Given the description of an element on the screen output the (x, y) to click on. 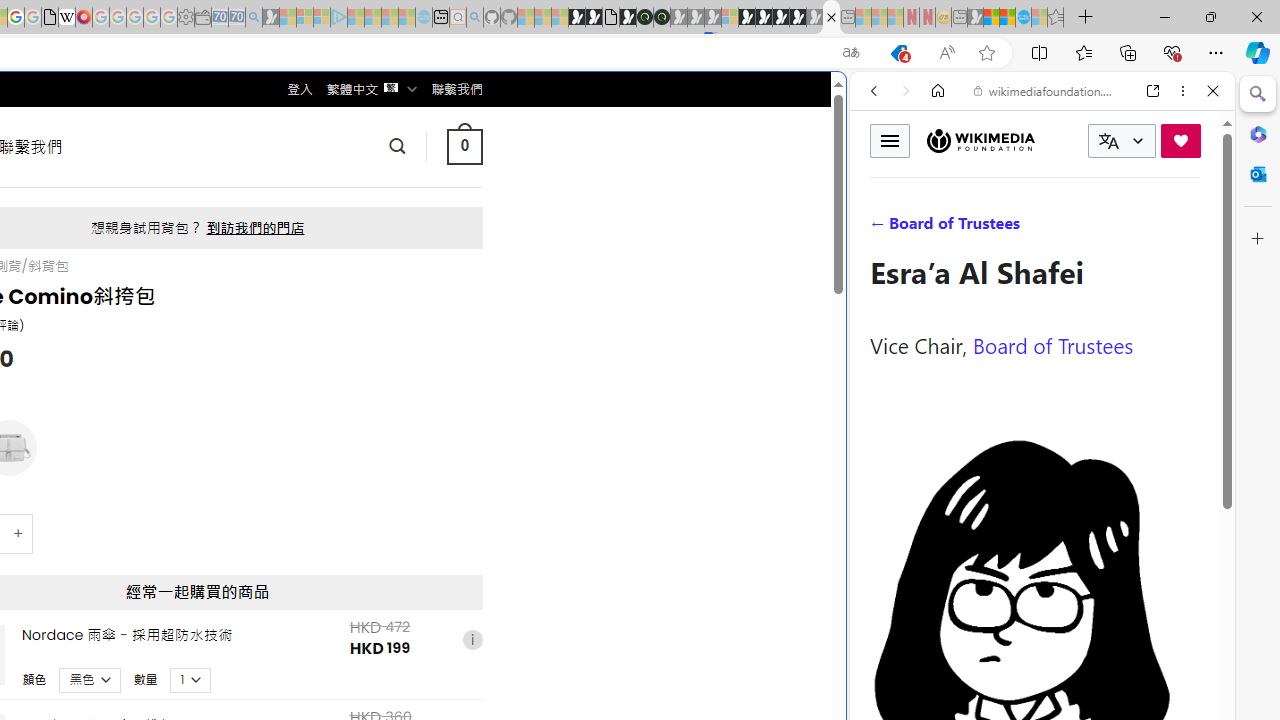
Toggle menu (890, 140)
Earth has six continents not seven, radical new study claims (1007, 17)
WEB   (882, 228)
Donate now (1180, 140)
